Given the description of an element on the screen output the (x, y) to click on. 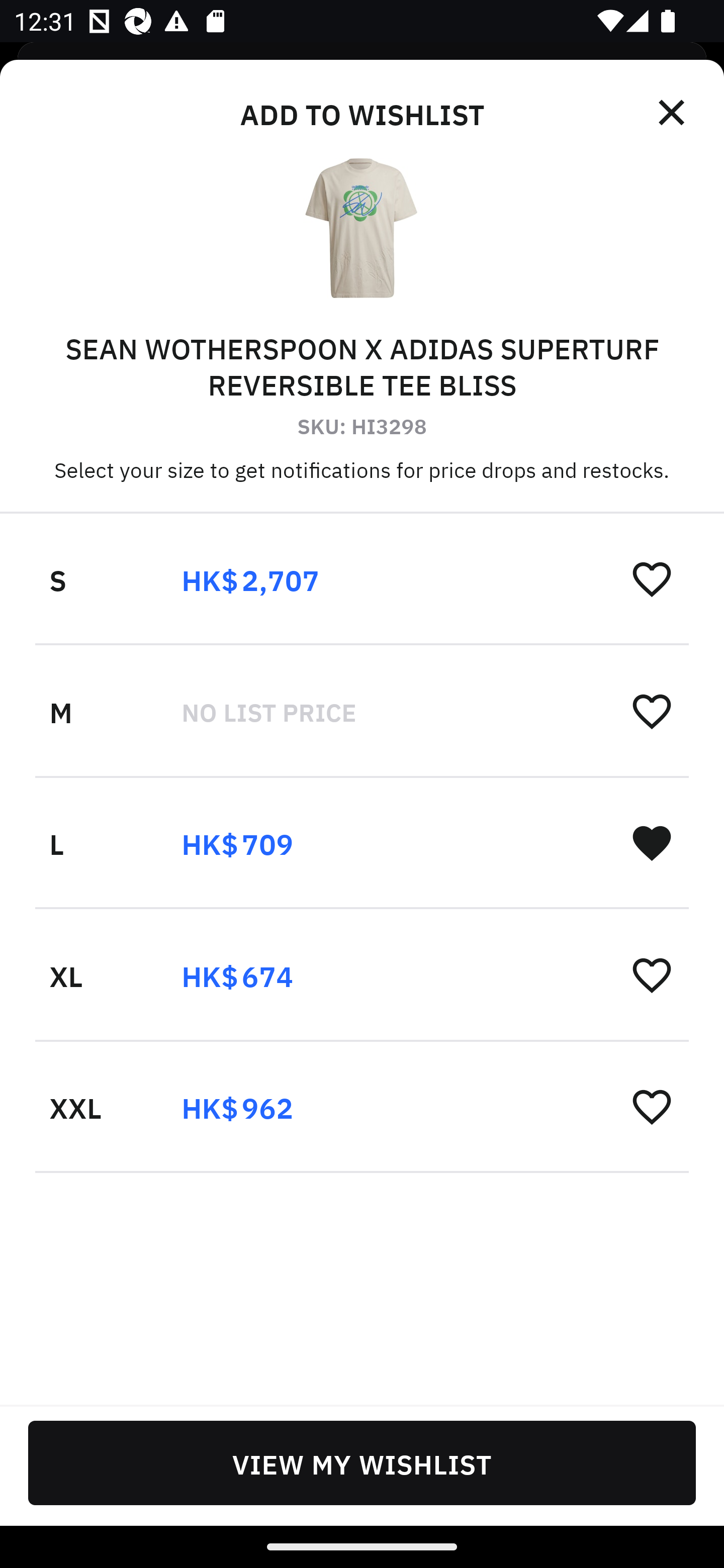
 (672, 112)
󰋕 (651, 578)
󰋕 (651, 710)
󰋑 (651, 842)
󰋕 (651, 974)
󰋕 (651, 1105)
VIEW MY WISHLIST (361, 1462)
